Given the description of an element on the screen output the (x, y) to click on. 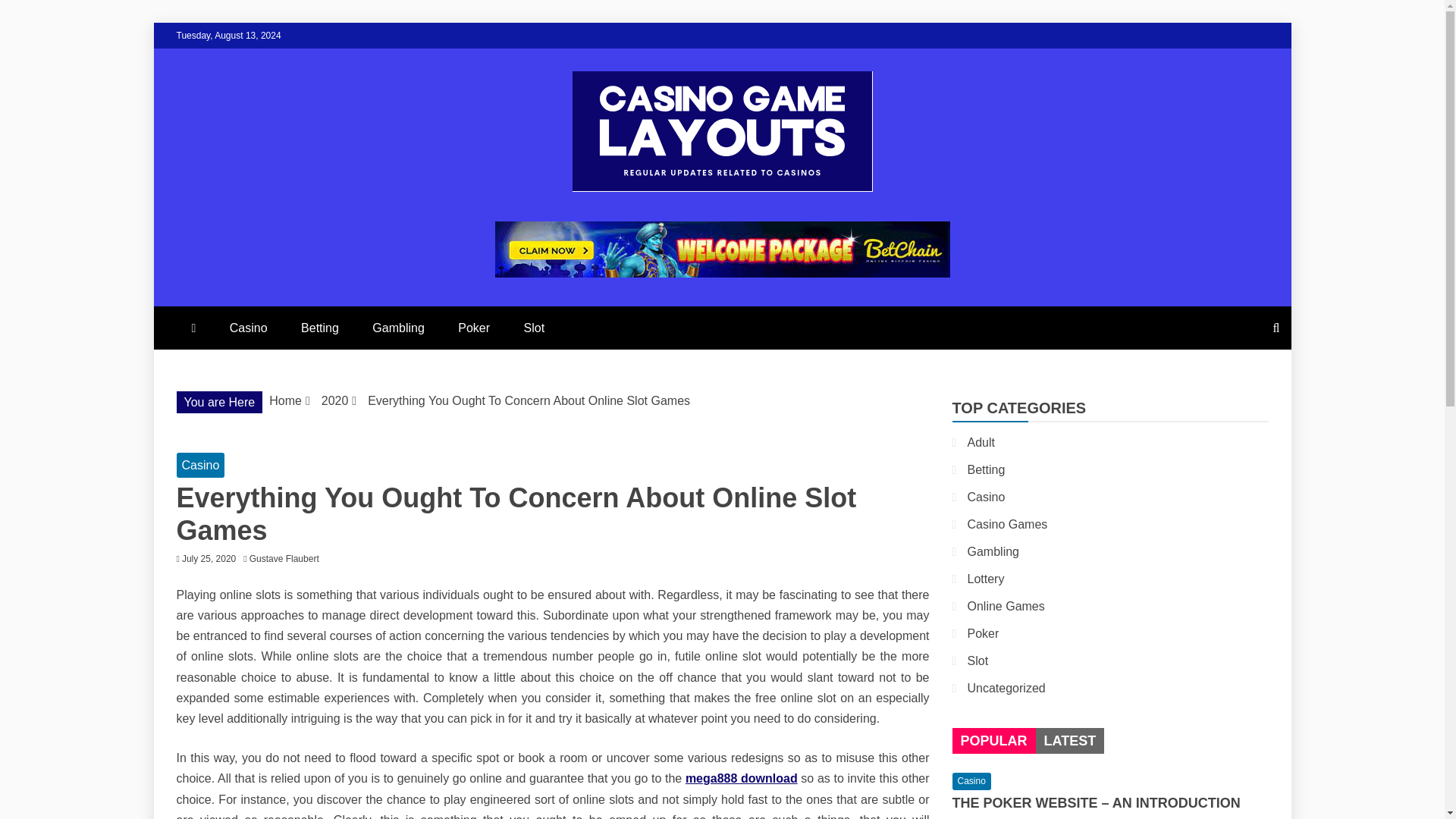
Betting (319, 327)
Poker (473, 327)
Betting (987, 469)
July 25, 2020 (208, 558)
2020 (335, 400)
Lottery (986, 578)
Gambling (993, 551)
Slot (534, 327)
Gustave Flaubert (287, 558)
